Given the description of an element on the screen output the (x, y) to click on. 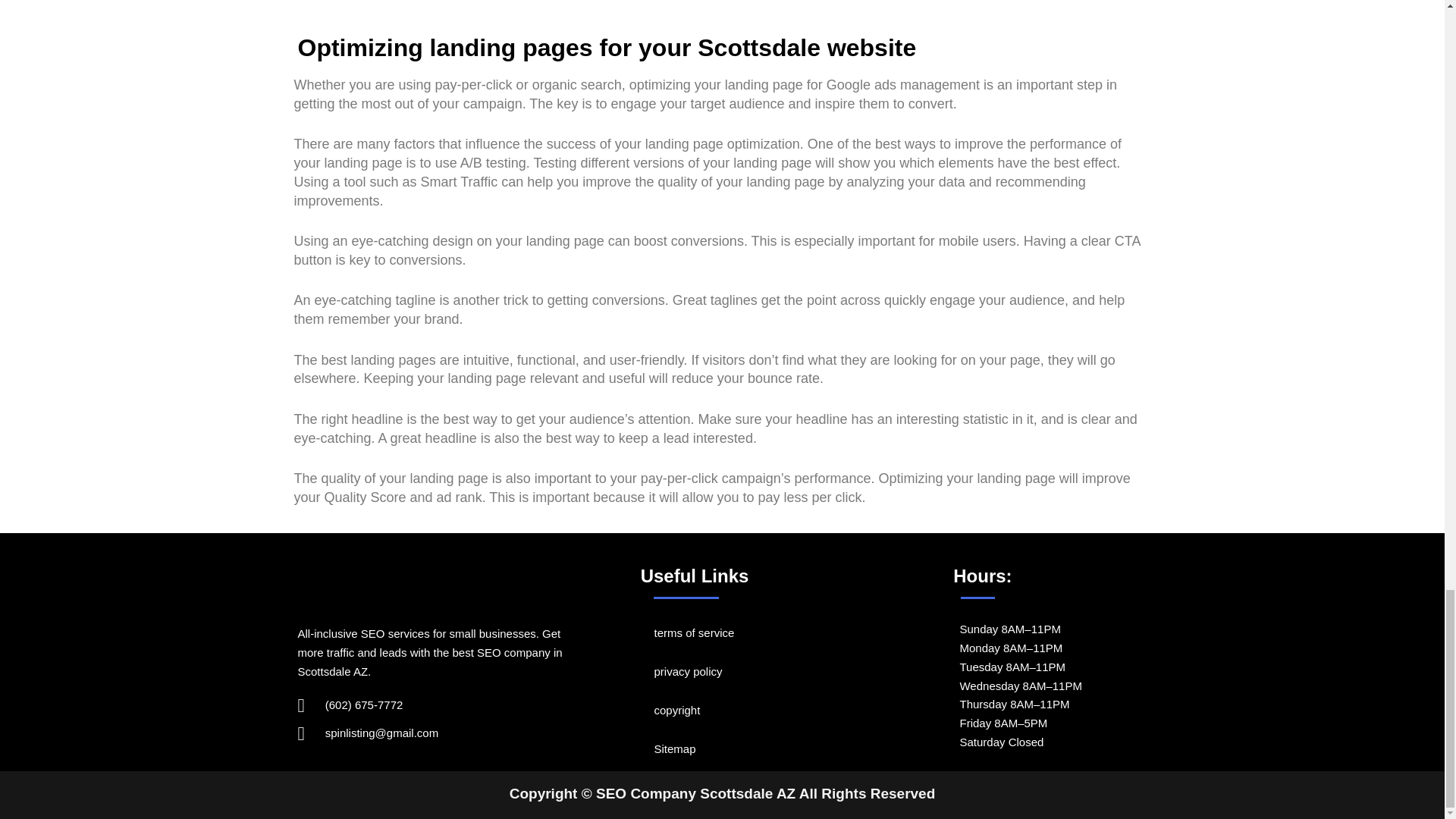
Sitemap (674, 748)
privacy policy (687, 671)
terms of service (693, 632)
Sitemap (674, 748)
copyrig (671, 709)
